Given the description of an element on the screen output the (x, y) to click on. 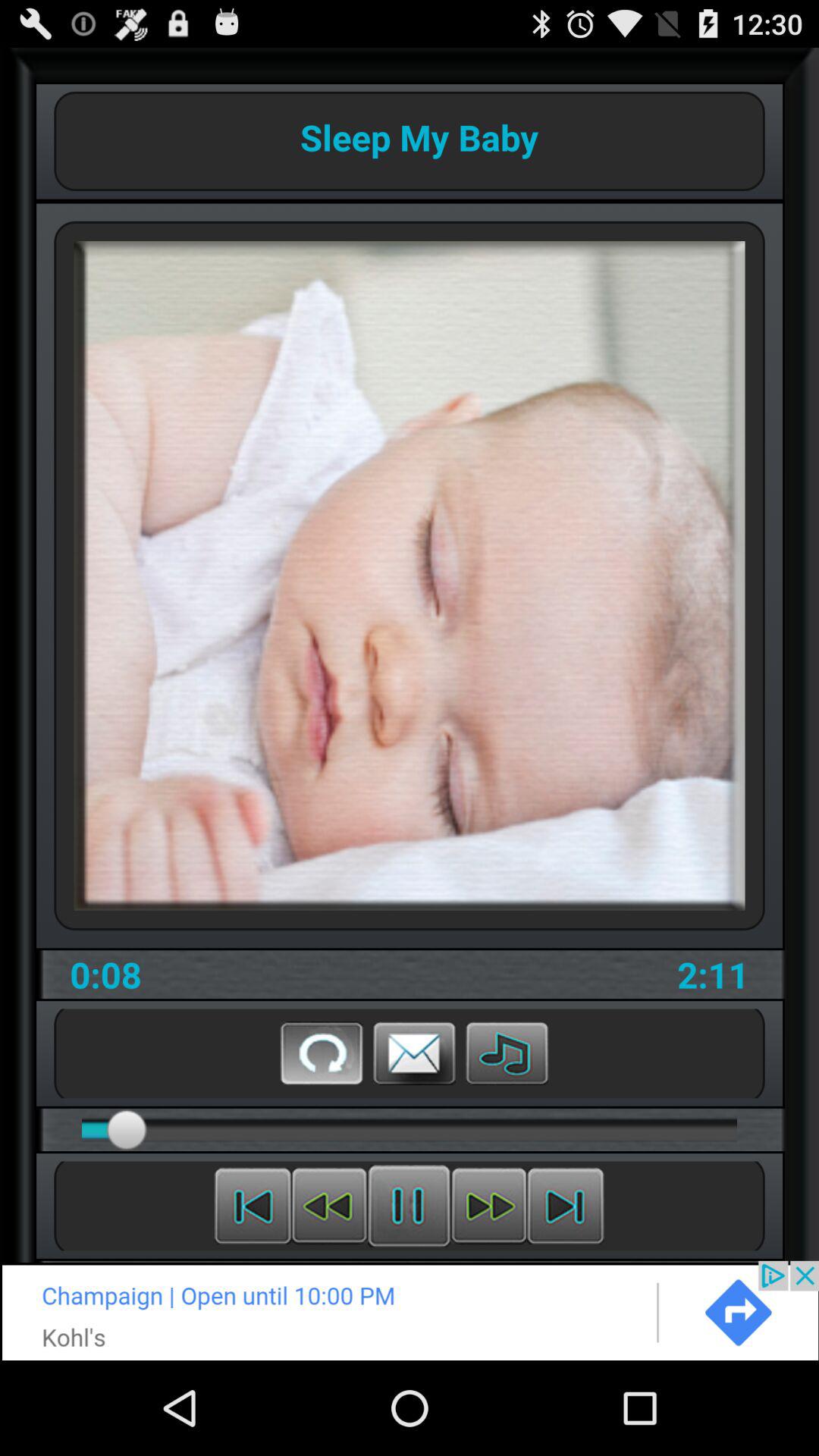
skip to next audio (565, 1205)
